Given the description of an element on the screen output the (x, y) to click on. 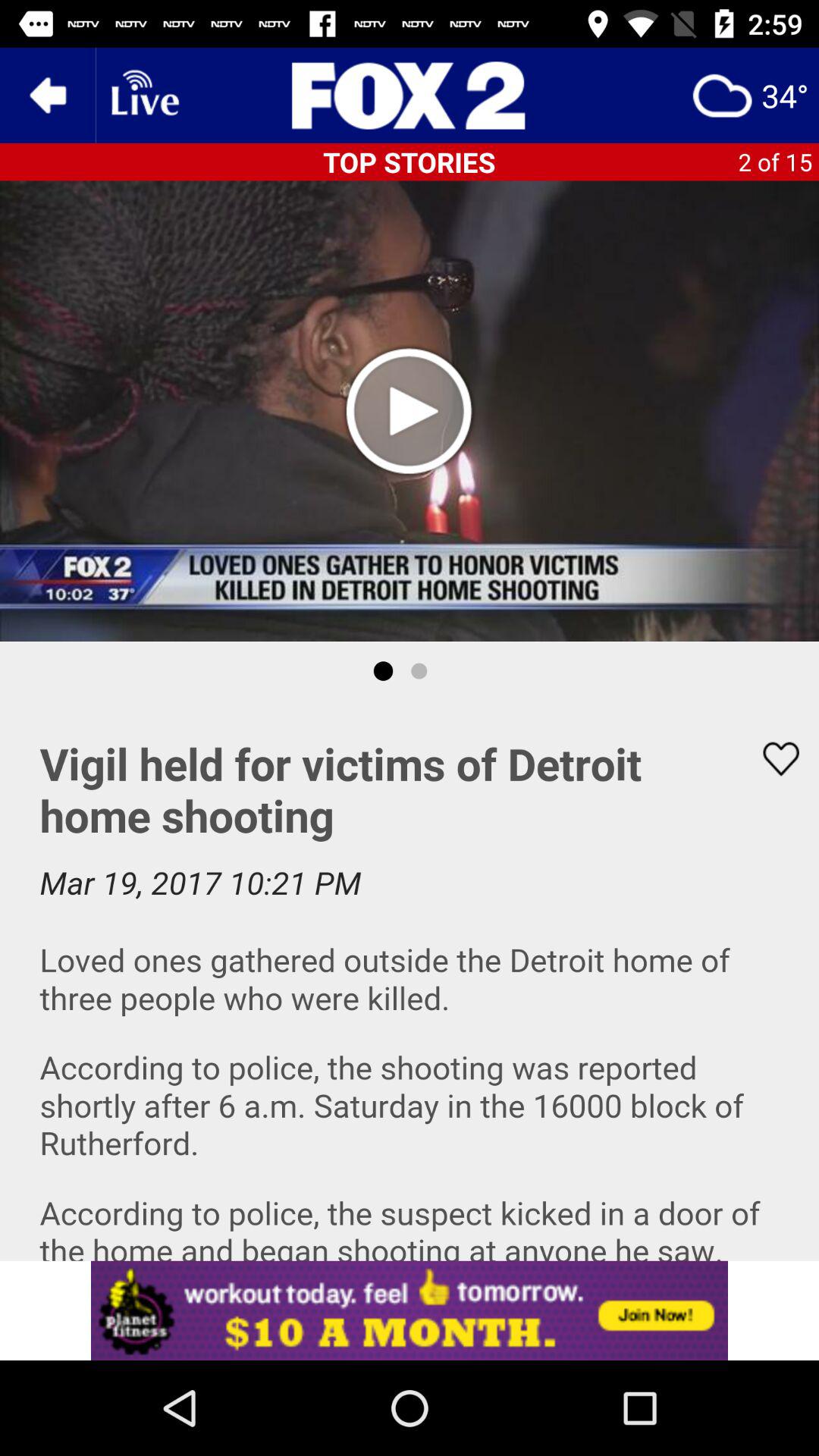
details about advertisement (409, 1310)
